Given the description of an element on the screen output the (x, y) to click on. 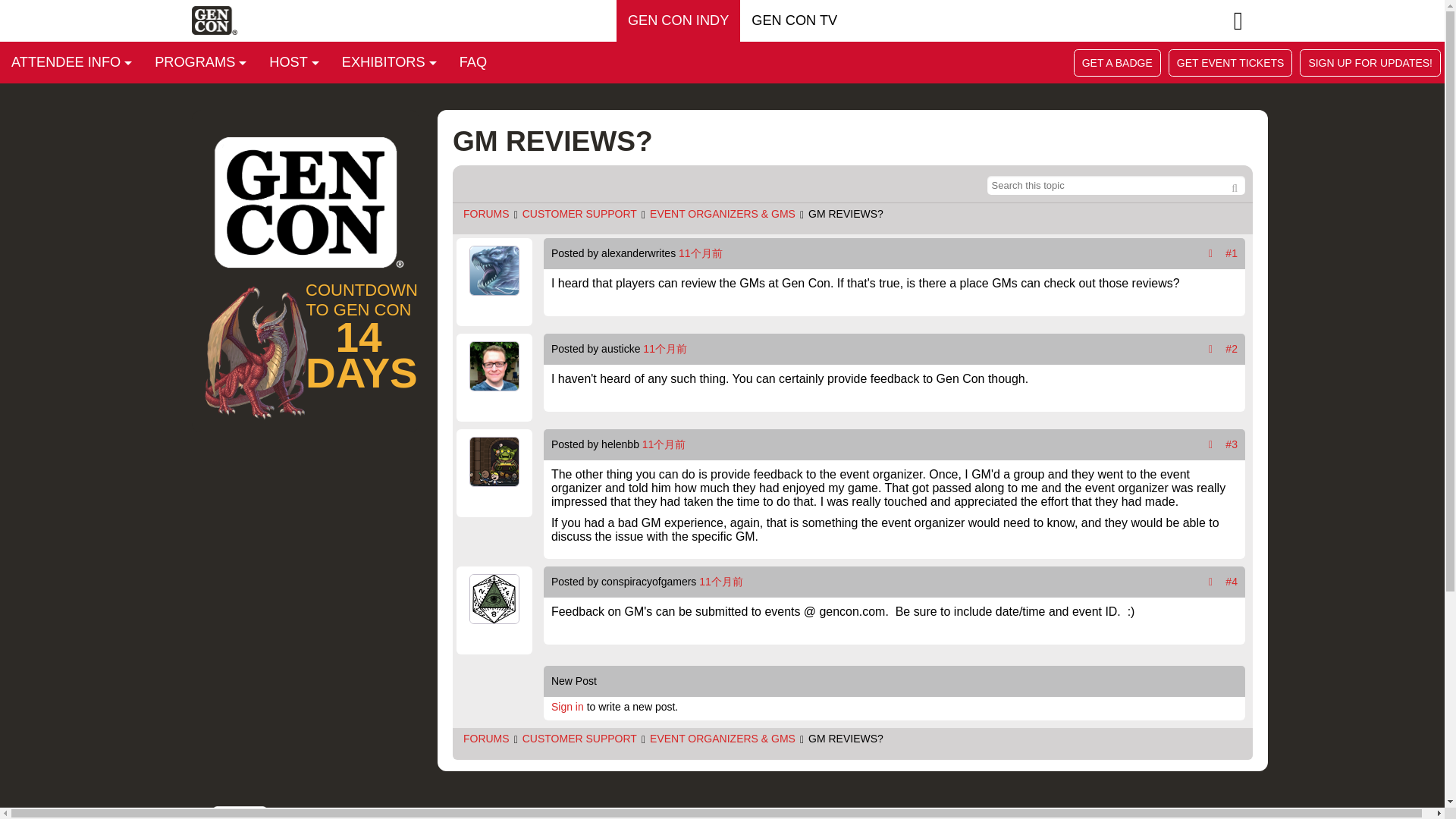
PROGRAMS (199, 62)
Link (1231, 253)
Reply to Post (1210, 581)
HOST (293, 62)
EXHIBITORS (389, 62)
GEN CON INDY (677, 20)
Reply to Post (1210, 253)
Link (1231, 444)
Link (1231, 348)
Link (1231, 581)
Reply to Post (1210, 444)
ATTENDEE INFO (71, 62)
Reply to Post (1210, 348)
